Given the description of an element on the screen output the (x, y) to click on. 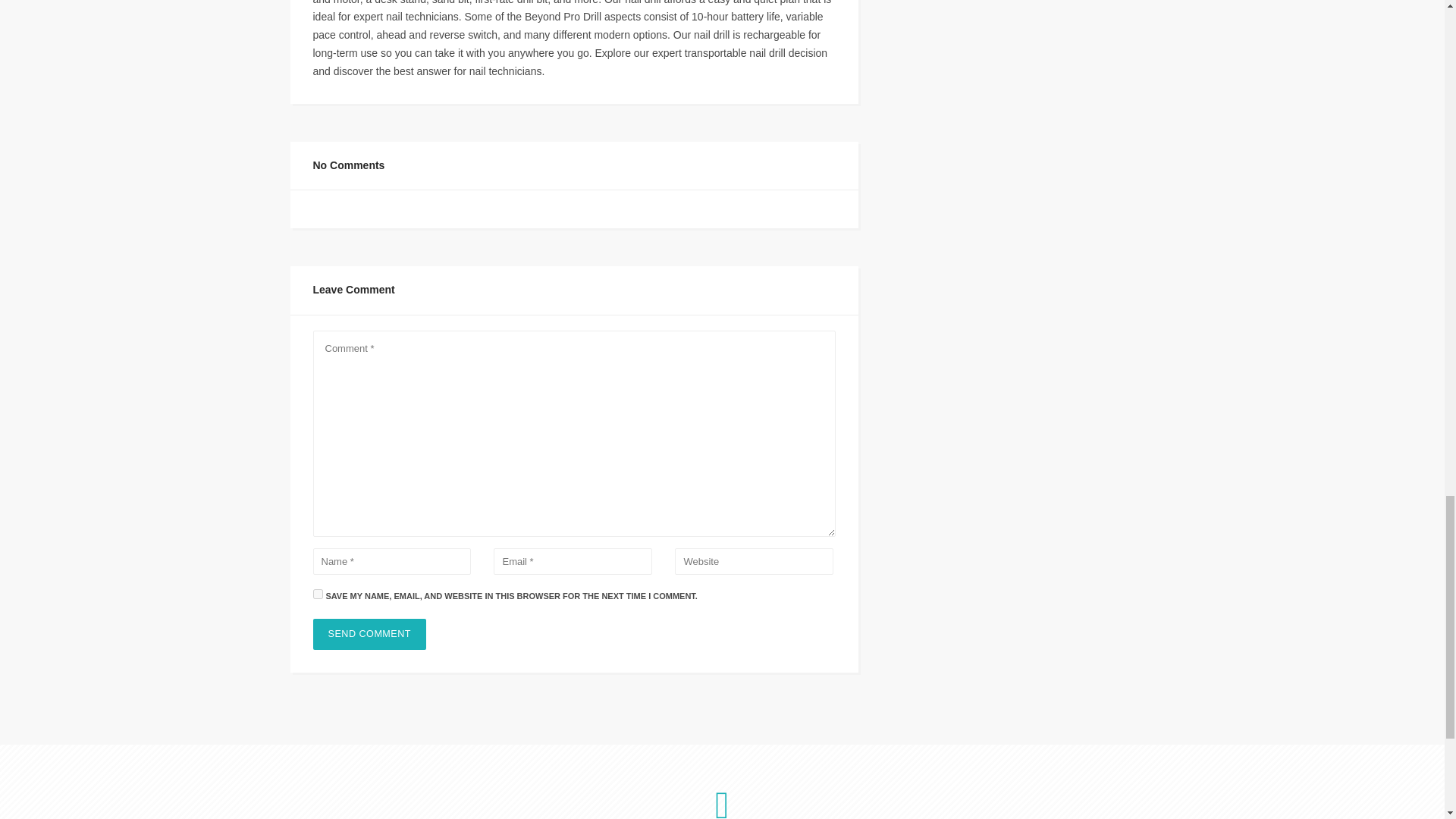
Send Comment (369, 634)
Send Comment (369, 634)
yes (317, 593)
